Given the description of an element on the screen output the (x, y) to click on. 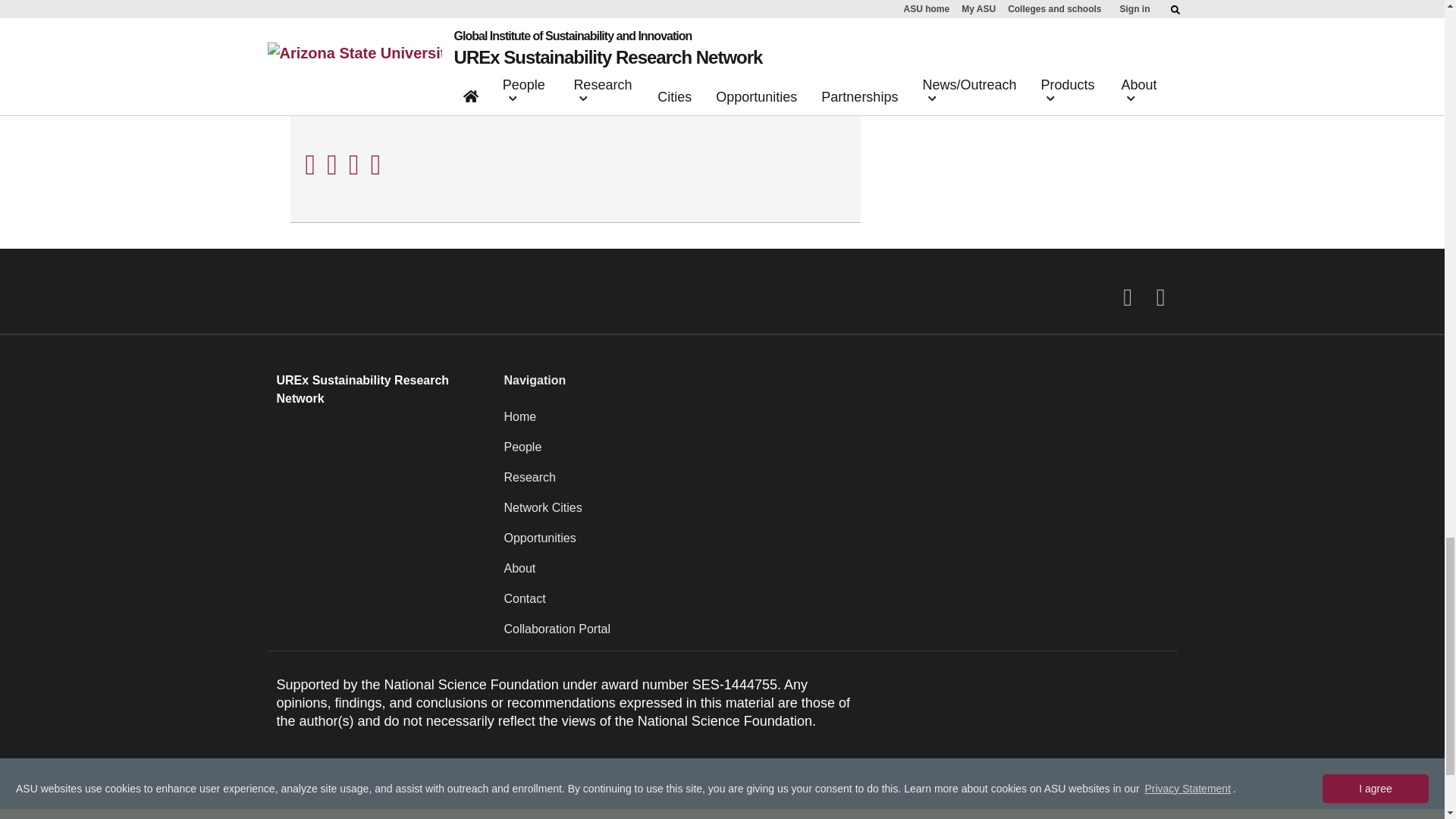
Collaboration Portal (835, 634)
Opportunities (835, 544)
Network Cities (835, 513)
Contact (835, 604)
People (835, 453)
About (835, 574)
Research (835, 483)
Home (835, 422)
